Given the description of an element on the screen output the (x, y) to click on. 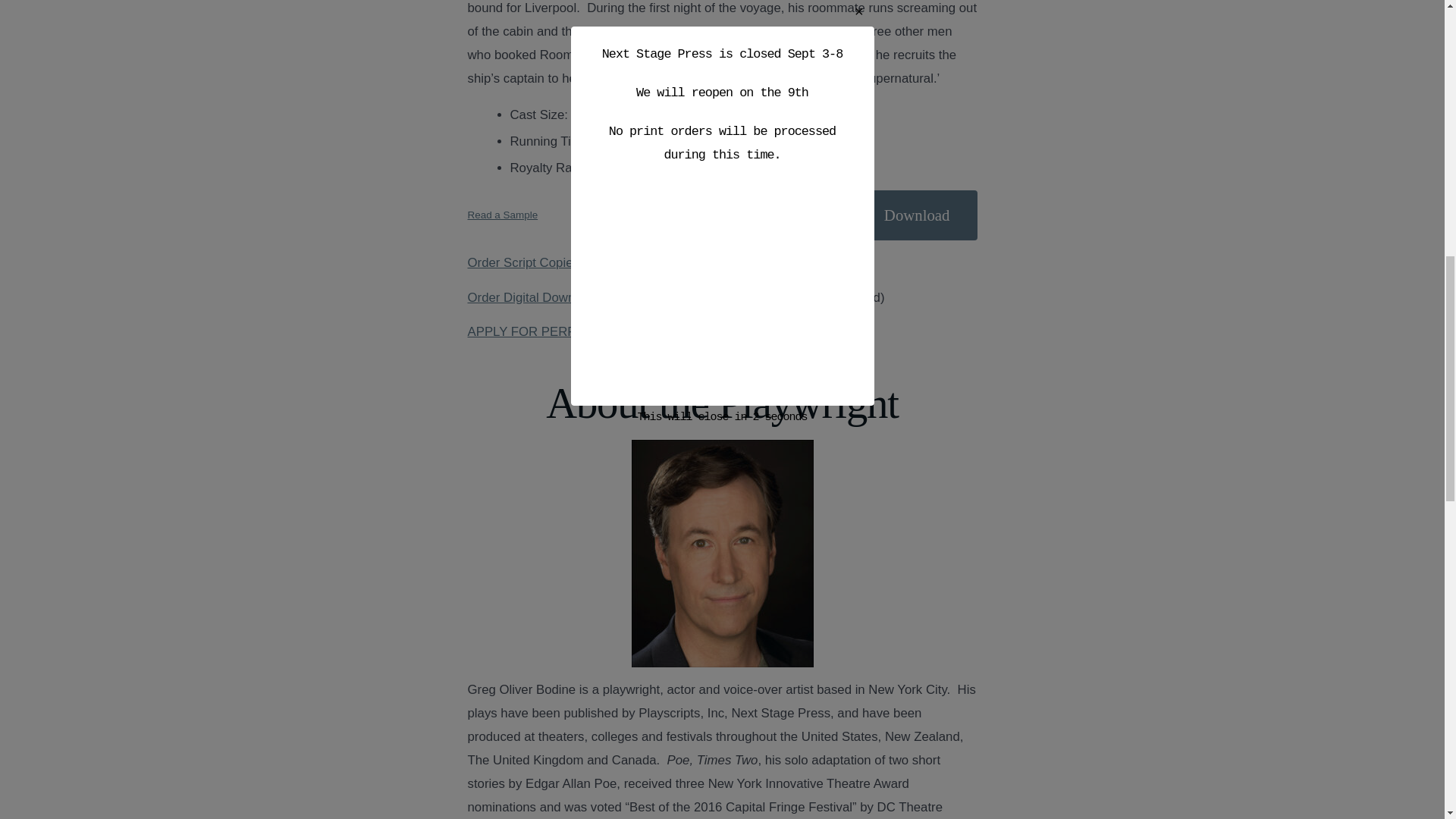
Order Script Copies (522, 262)
Order Digital Download (532, 297)
Download (916, 215)
APPLY FOR PERFORMANCE RIGHTS (579, 331)
Read a Sample (502, 215)
